Given the description of an element on the screen output the (x, y) to click on. 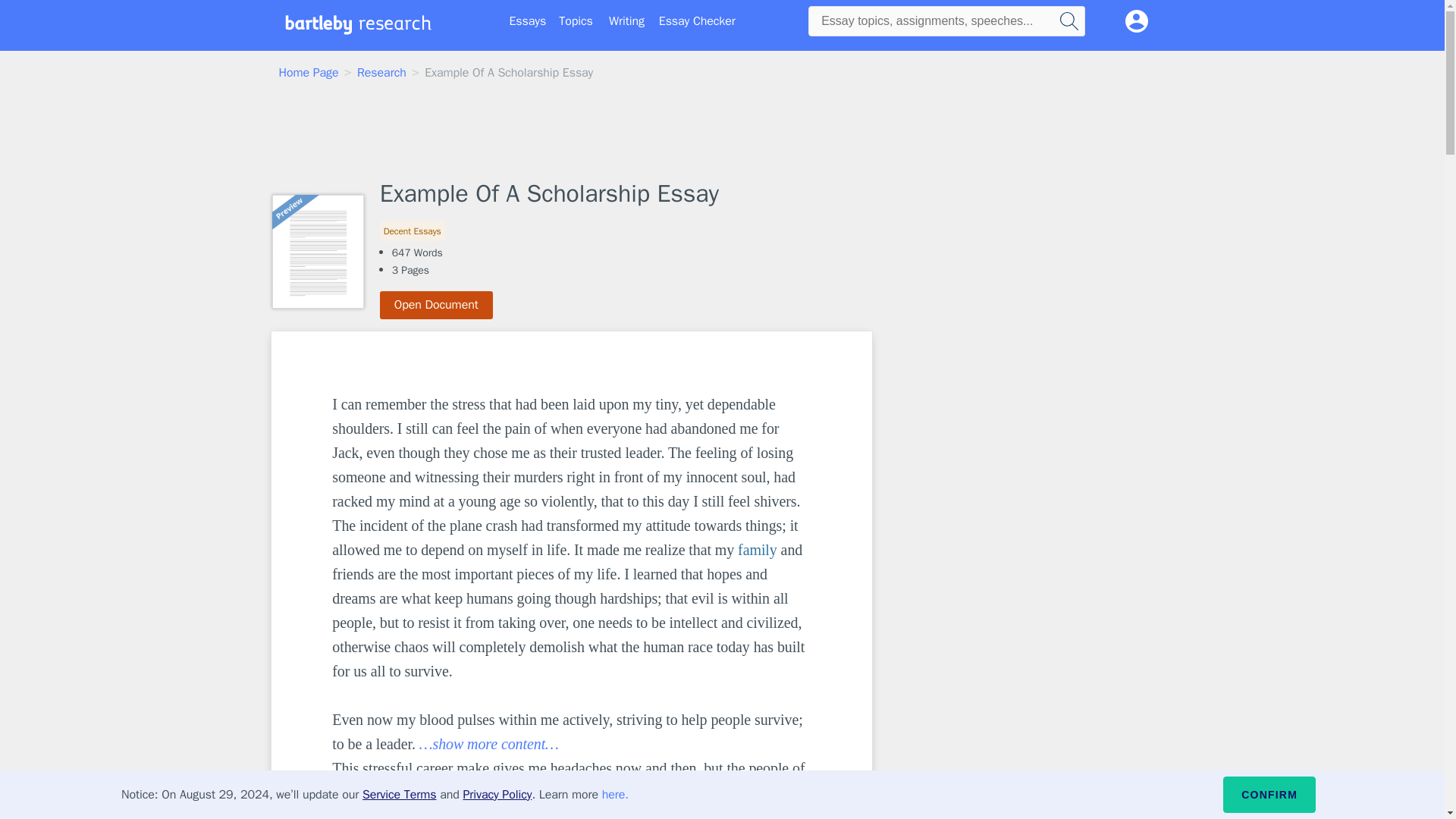
Essays (528, 20)
Topics (575, 20)
Writing (626, 20)
Home Page (309, 72)
Open Document (436, 305)
Essay Checker (697, 20)
Research (381, 72)
family (757, 549)
